Given the description of an element on the screen output the (x, y) to click on. 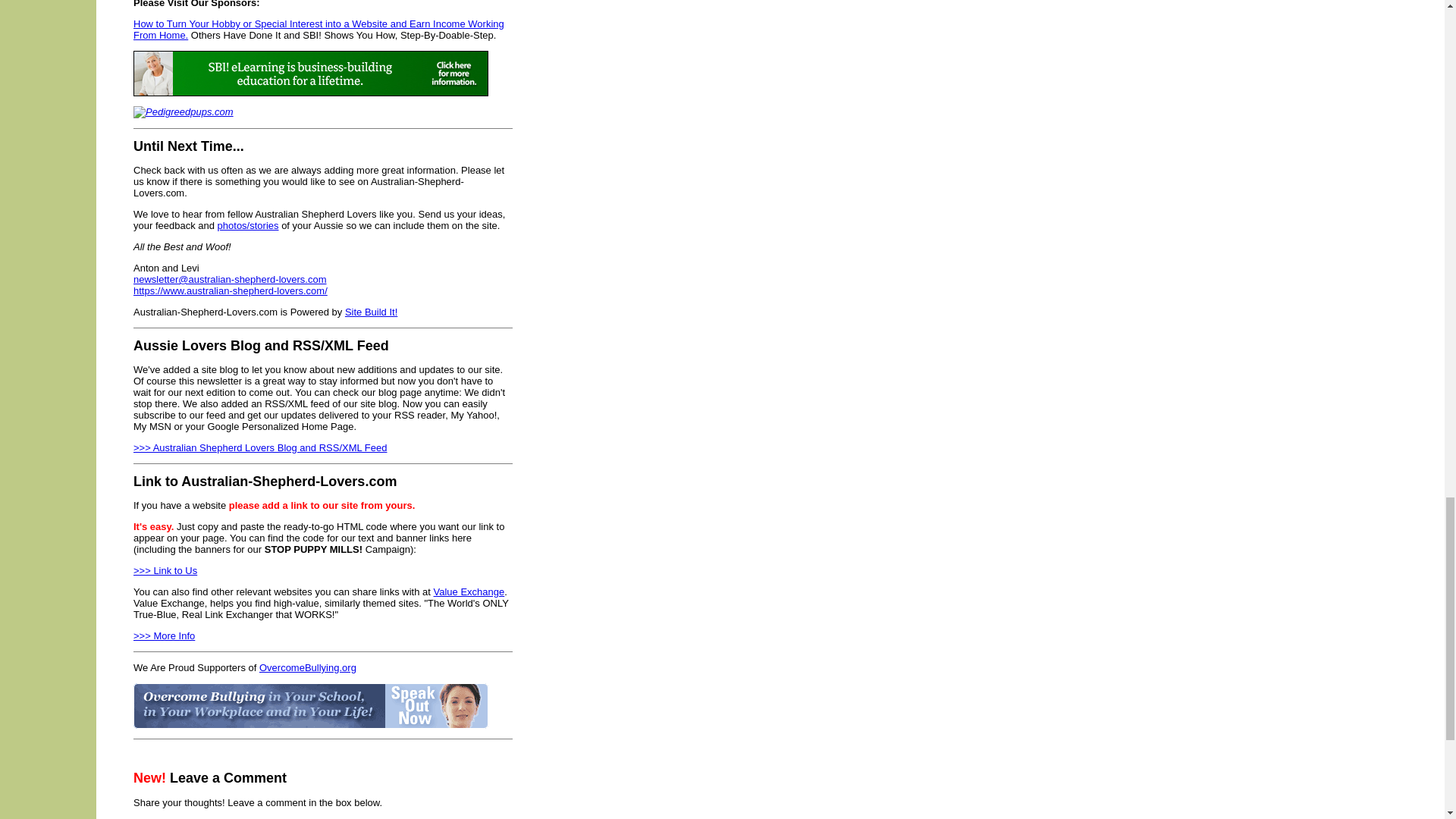
OvercomeBullying.org (307, 667)
Site Build It! (371, 311)
Value Exchange (469, 591)
